Given the description of an element on the screen output the (x, y) to click on. 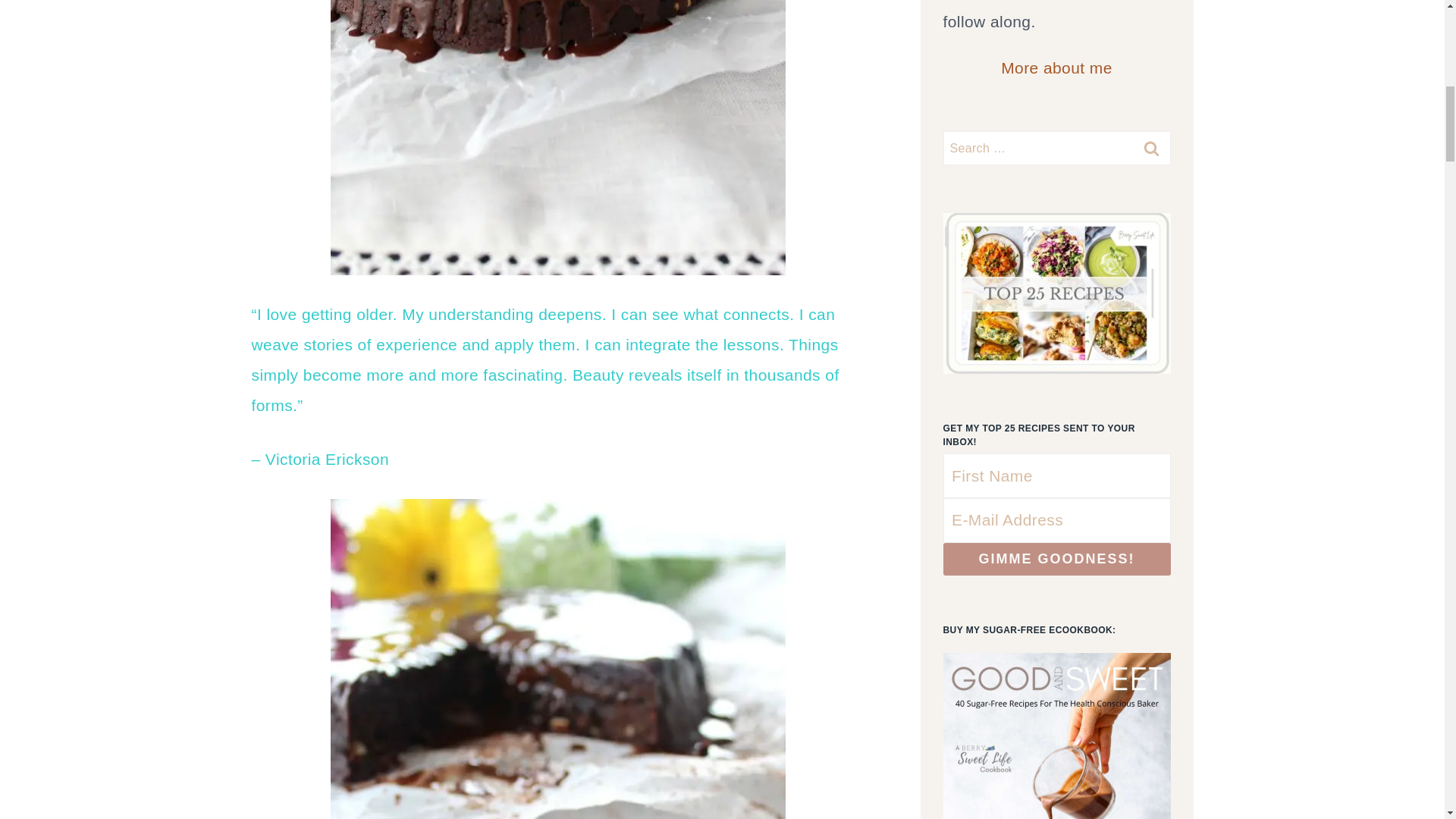
Search (1151, 148)
Search (1151, 148)
Gimme goodness! (1056, 558)
